Given the description of an element on the screen output the (x, y) to click on. 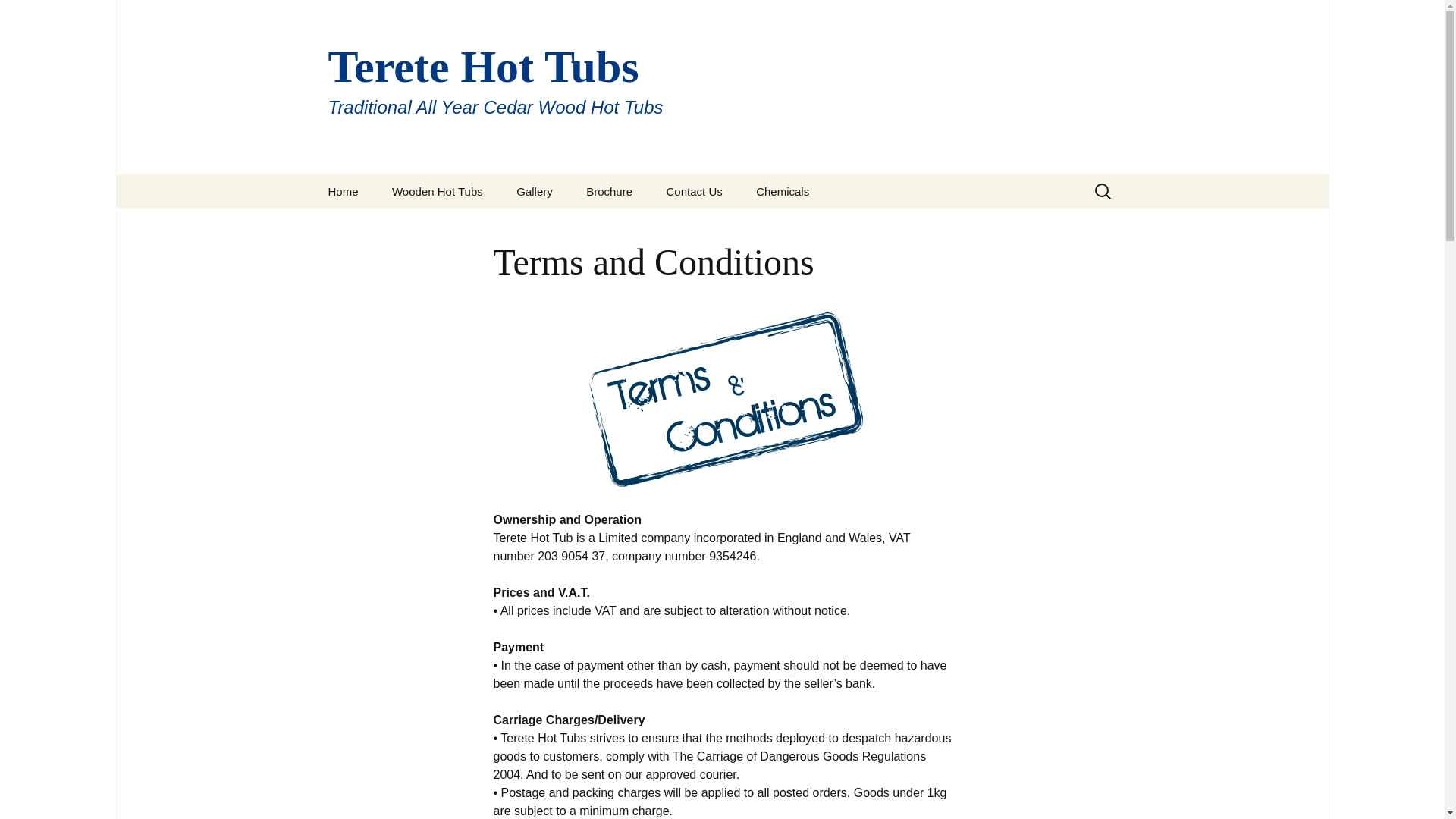
Search (18, 15)
Chemicals (782, 191)
Home (342, 191)
Gallery (533, 191)
About Cedar Wood (452, 225)
Brochure (608, 191)
Contact Us (694, 191)
Wooden Hot Tubs (437, 191)
